Given the description of an element on the screen output the (x, y) to click on. 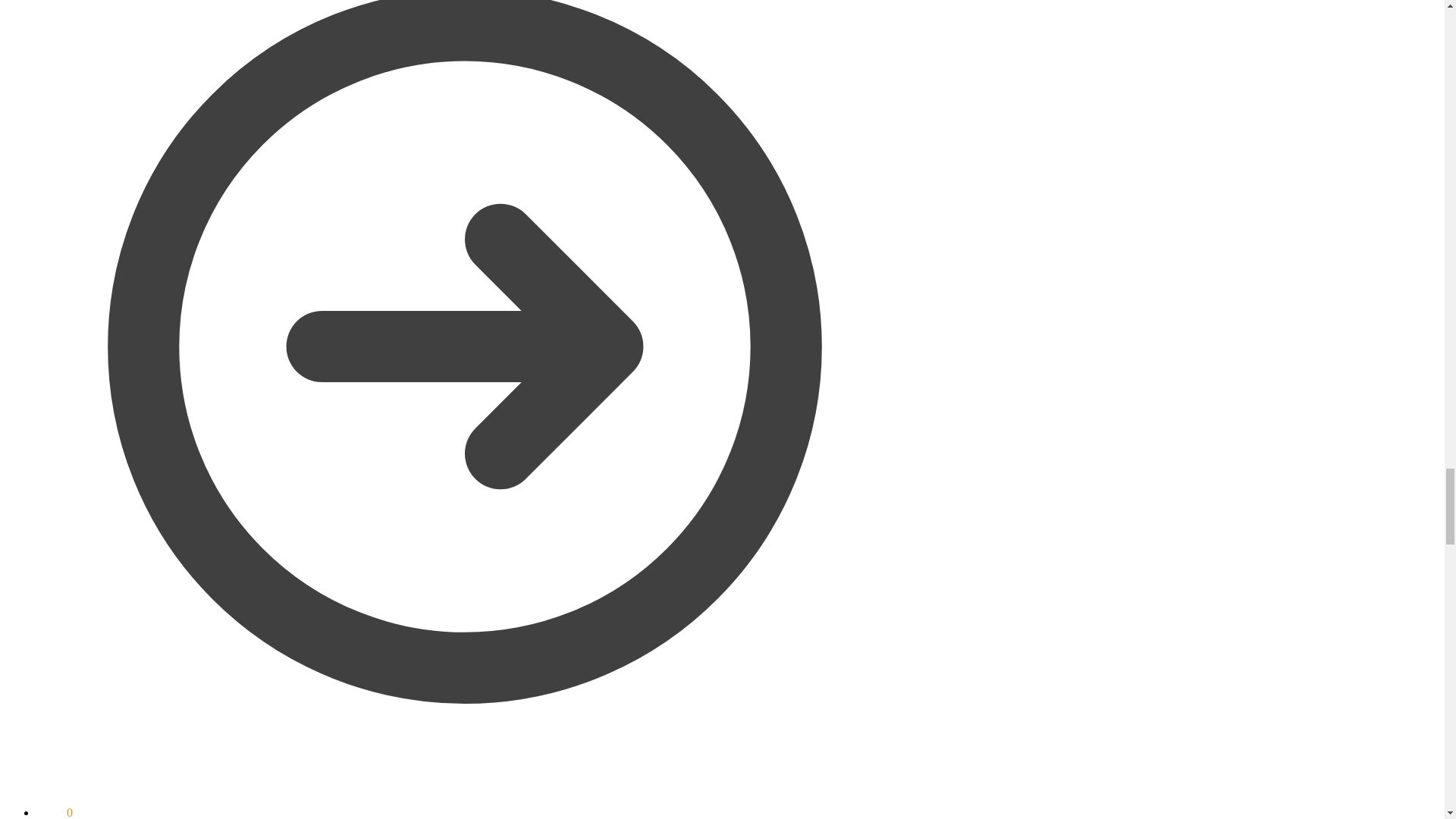
View your shopping cart (54, 812)
